Given the description of an element on the screen output the (x, y) to click on. 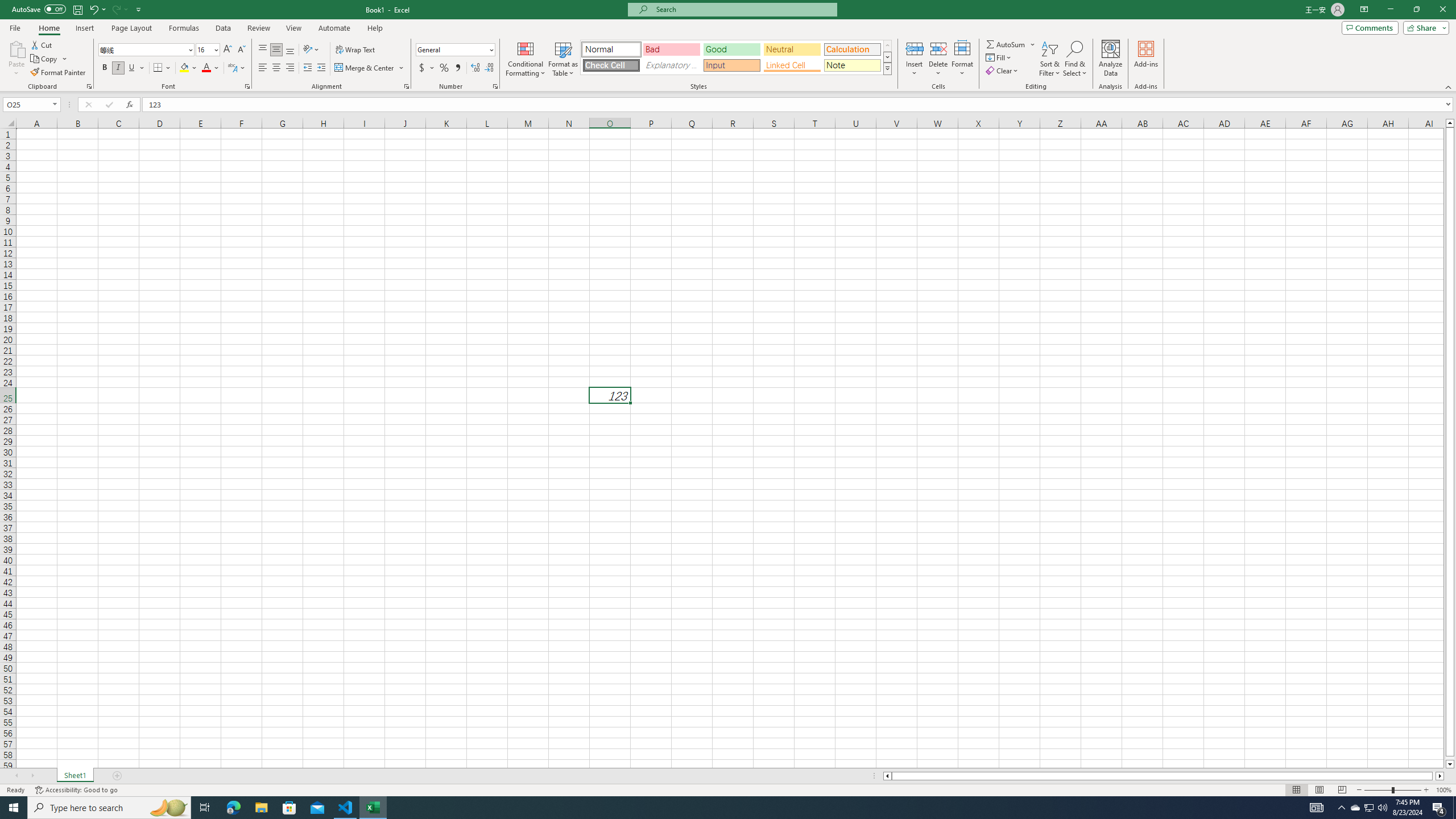
Font Color RGB(255, 0, 0) (206, 67)
Fill Color RGB(255, 255, 0) (183, 67)
Top Align (262, 49)
Explanatory Text (671, 65)
Accounting Number Format (422, 67)
Align Left (262, 67)
Increase Decimal (474, 67)
Increase Font Size (227, 49)
